Given the description of an element on the screen output the (x, y) to click on. 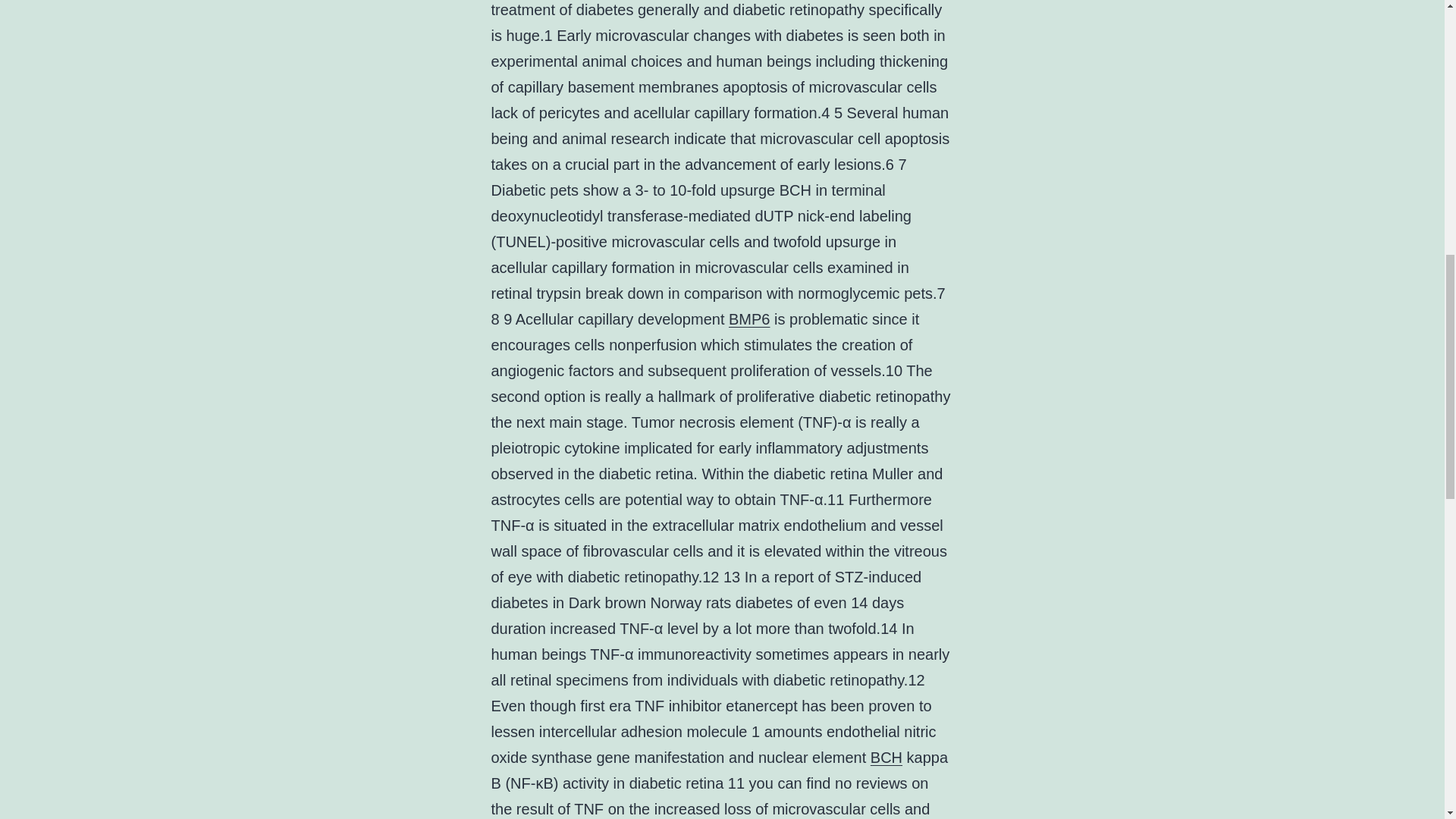
BCH (886, 757)
BMP6 (749, 319)
